Given the description of an element on the screen output the (x, y) to click on. 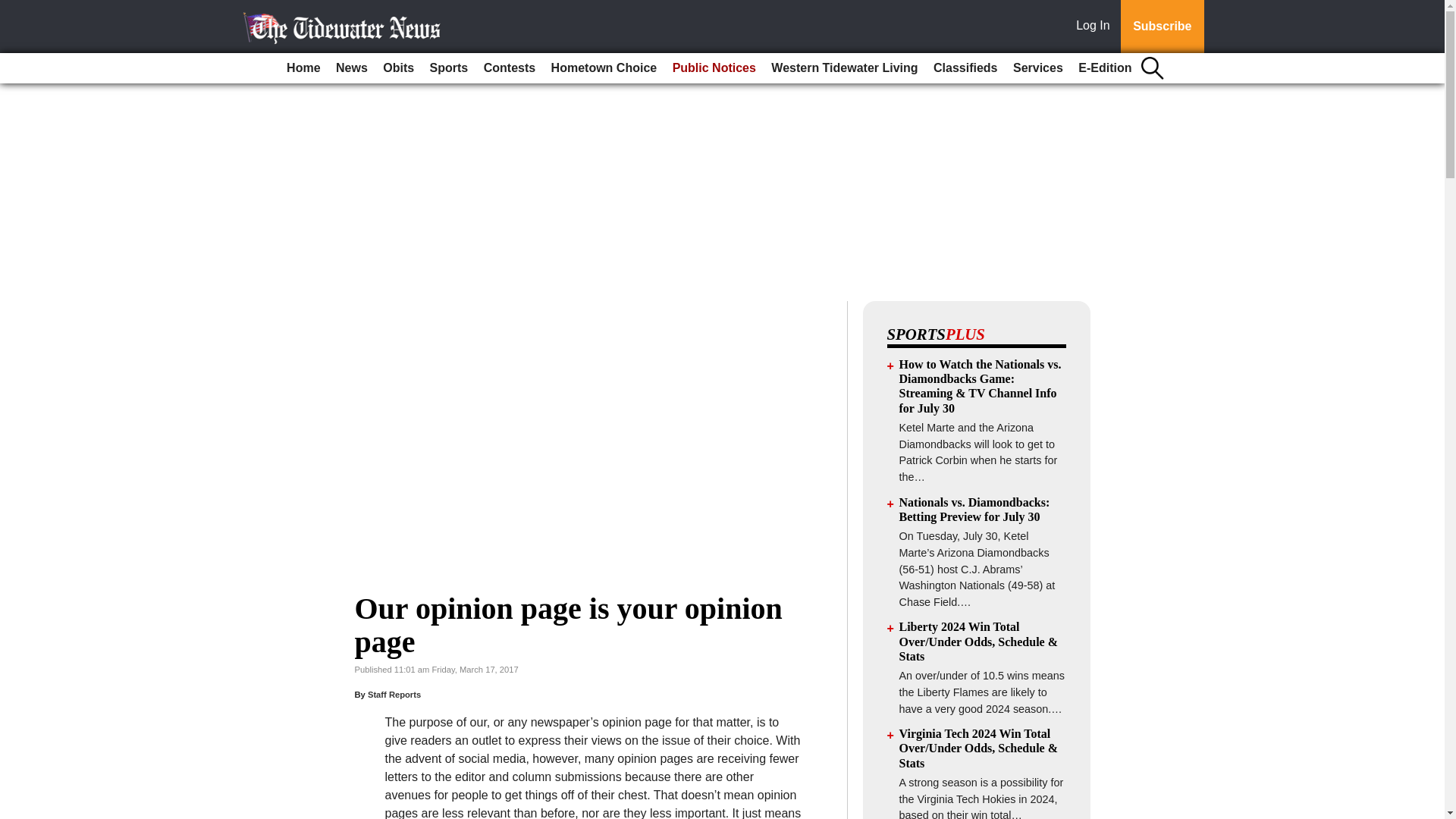
Hometown Choice (603, 68)
Go (13, 9)
Obits (398, 68)
Contests (509, 68)
Subscribe (1162, 26)
Staff Reports (394, 694)
Classifieds (965, 68)
Home (303, 68)
Log In (1095, 26)
Public Notices (713, 68)
Sports (448, 68)
E-Edition (1104, 68)
Western Tidewater Living (844, 68)
Services (1037, 68)
News (352, 68)
